Given the description of an element on the screen output the (x, y) to click on. 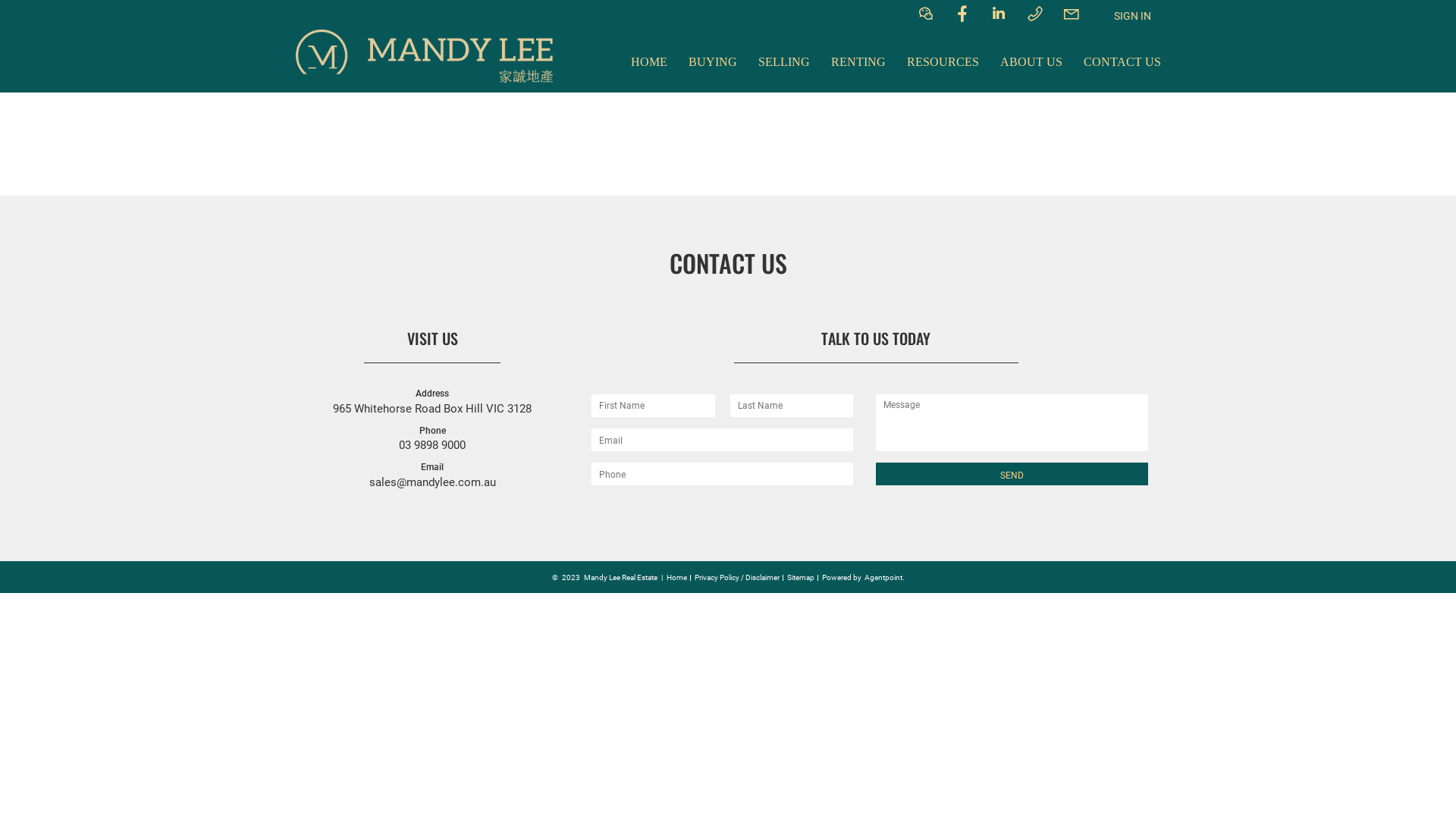
Privacy Policy / Disclaimer Element type: text (736, 577)
CONTACT US Element type: text (1122, 61)
SEND Element type: text (1011, 473)
sales@mandylee.com.au Element type: text (431, 482)
BUYING Element type: text (712, 61)
HOME Element type: text (648, 61)
RESOURCES Element type: text (942, 61)
SIGN IN Element type: text (1132, 15)
SELLING Element type: text (783, 61)
03 9898 9000 Element type: text (431, 444)
Agentpoint Element type: text (883, 577)
Sitemap Element type: text (800, 577)
RENTING Element type: text (858, 61)
Home Element type: text (675, 577)
ABOUT US Element type: text (1031, 61)
